Given the description of an element on the screen output the (x, y) to click on. 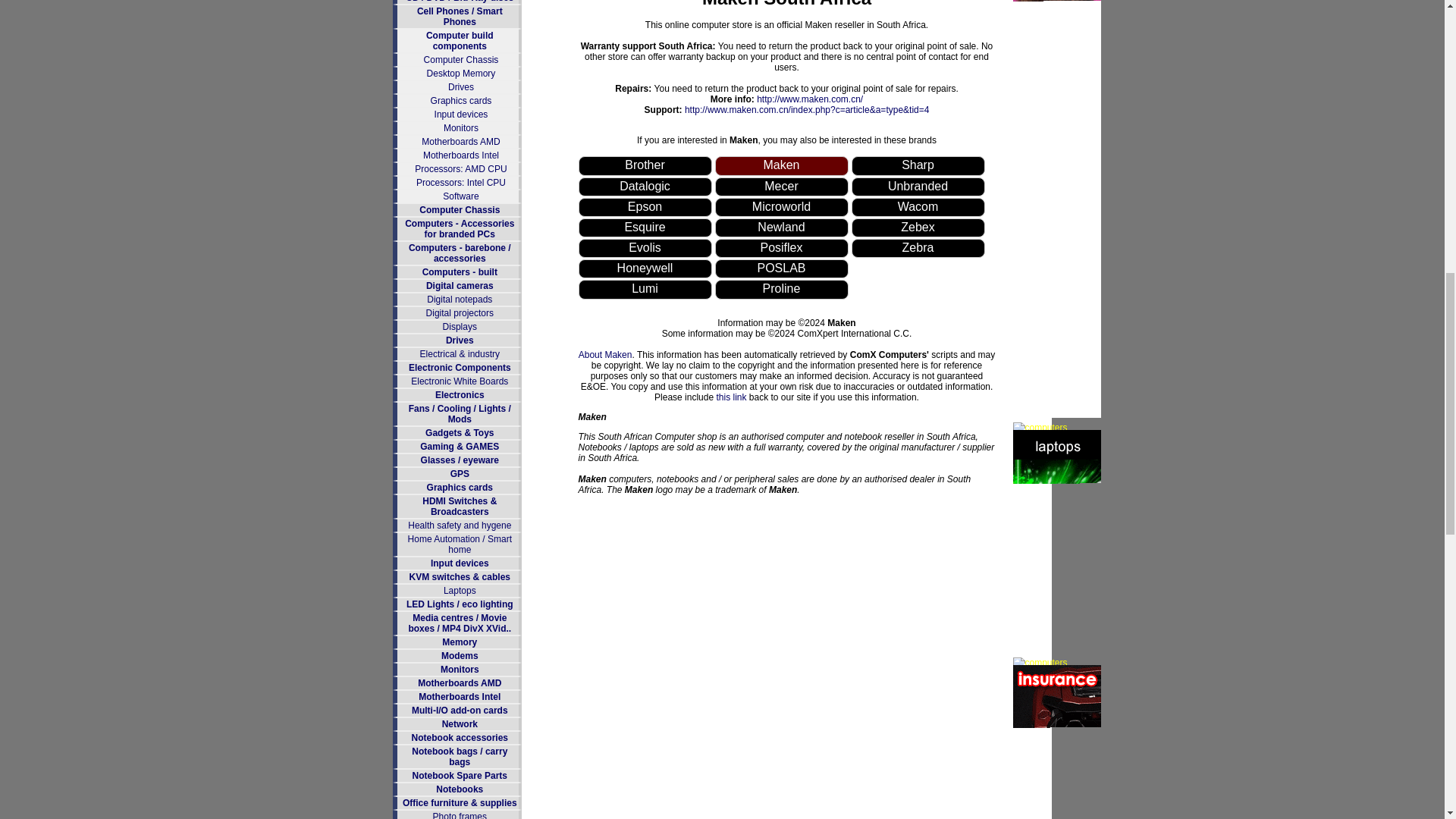
Electronic White Boards (459, 380)
Digital notepads (459, 299)
Photo frames (459, 815)
Digital projectors (459, 312)
Laptops (460, 590)
Health safety and hygene (459, 525)
Displays (459, 326)
